Given the description of an element on the screen output the (x, y) to click on. 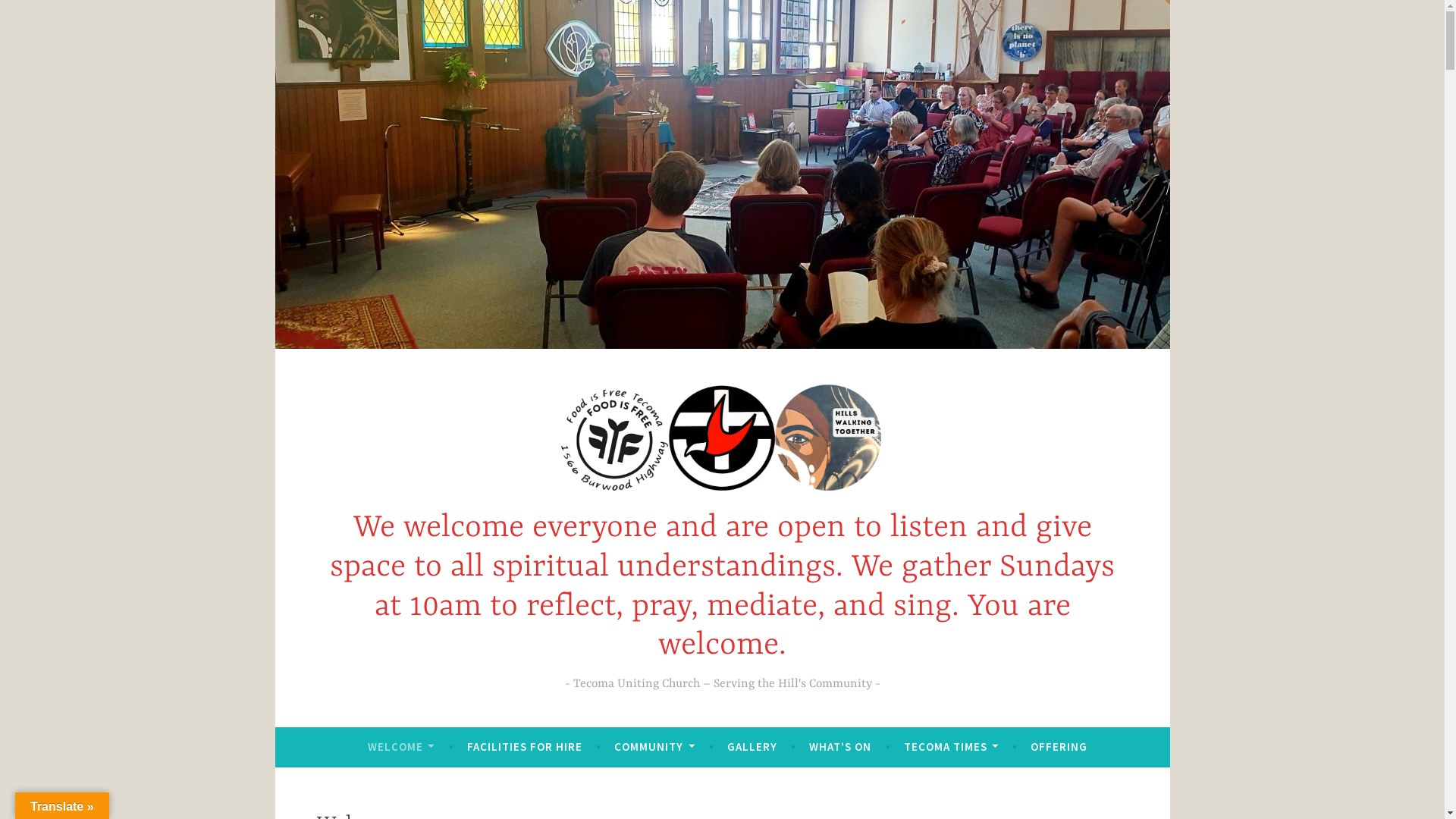
COMMUNITY Element type: text (654, 746)
OFFERING Element type: text (1058, 746)
FACILITIES FOR HIRE Element type: text (524, 746)
TECOMA TIMES Element type: text (950, 746)
WELCOME Element type: text (400, 746)
GALLERY Element type: text (752, 746)
